Given the description of an element on the screen output the (x, y) to click on. 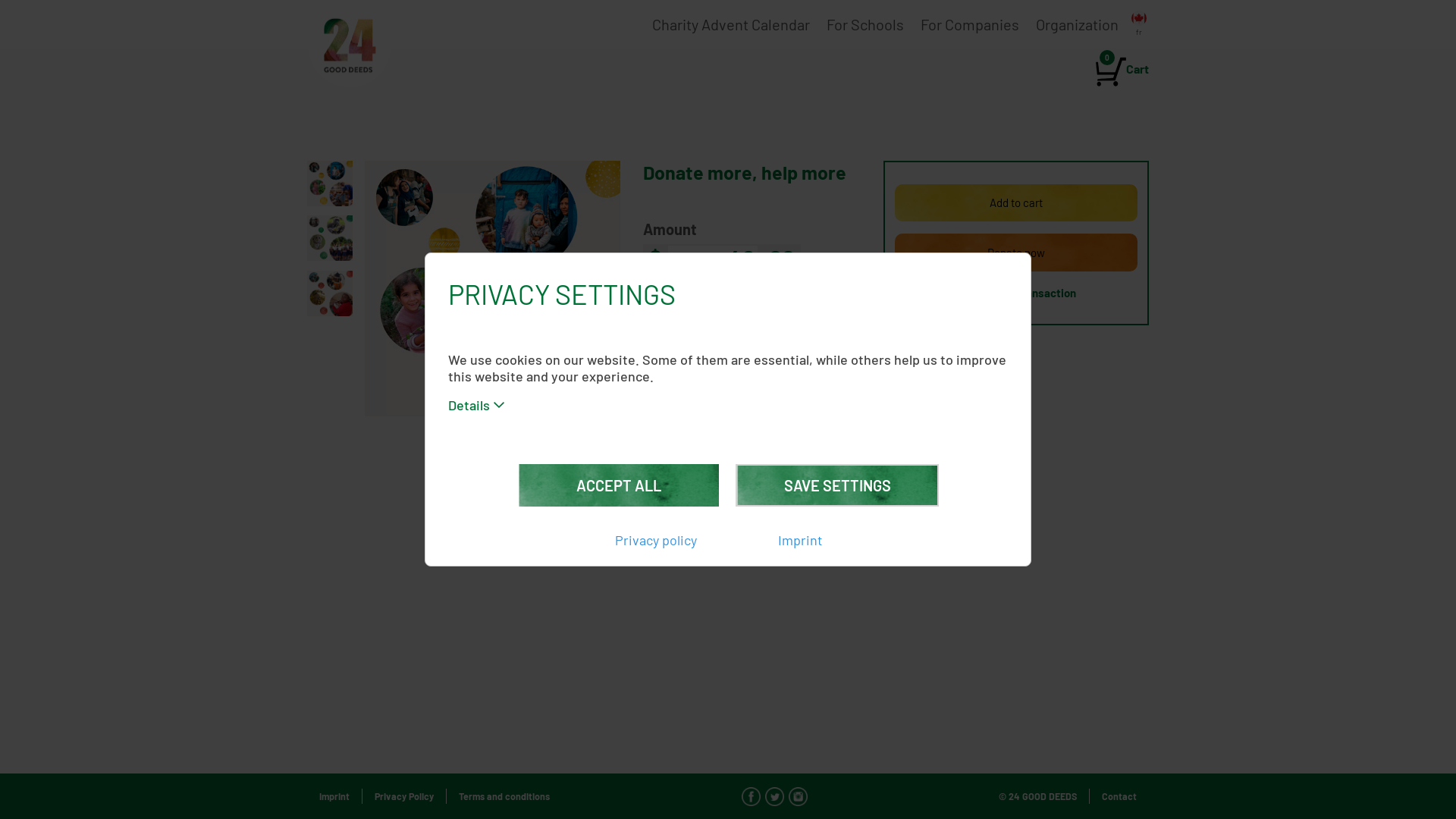
Contact Element type: text (1118, 795)
ACCEPT ALL Element type: text (618, 485)
fr Element type: text (1138, 23)
Privacy policy Element type: text (655, 540)
Organization Element type: text (1077, 24)
Privacy Policy Element type: text (403, 795)
For Schools Element type: text (865, 24)
SAVE SETTINGS Element type: text (836, 485)
Terms and conditions Element type: text (503, 795)
Imprint Element type: text (799, 540)
Donate now Element type: text (1015, 252)
Imprint Element type: text (334, 795)
Charity Advent Calendar Element type: text (730, 24)
0
Cart Element type: text (1118, 68)
For Companies Element type: text (969, 24)
Add to cart Element type: text (1015, 203)
   Secured transaction Element type: text (1016, 292)
